Given the description of an element on the screen output the (x, y) to click on. 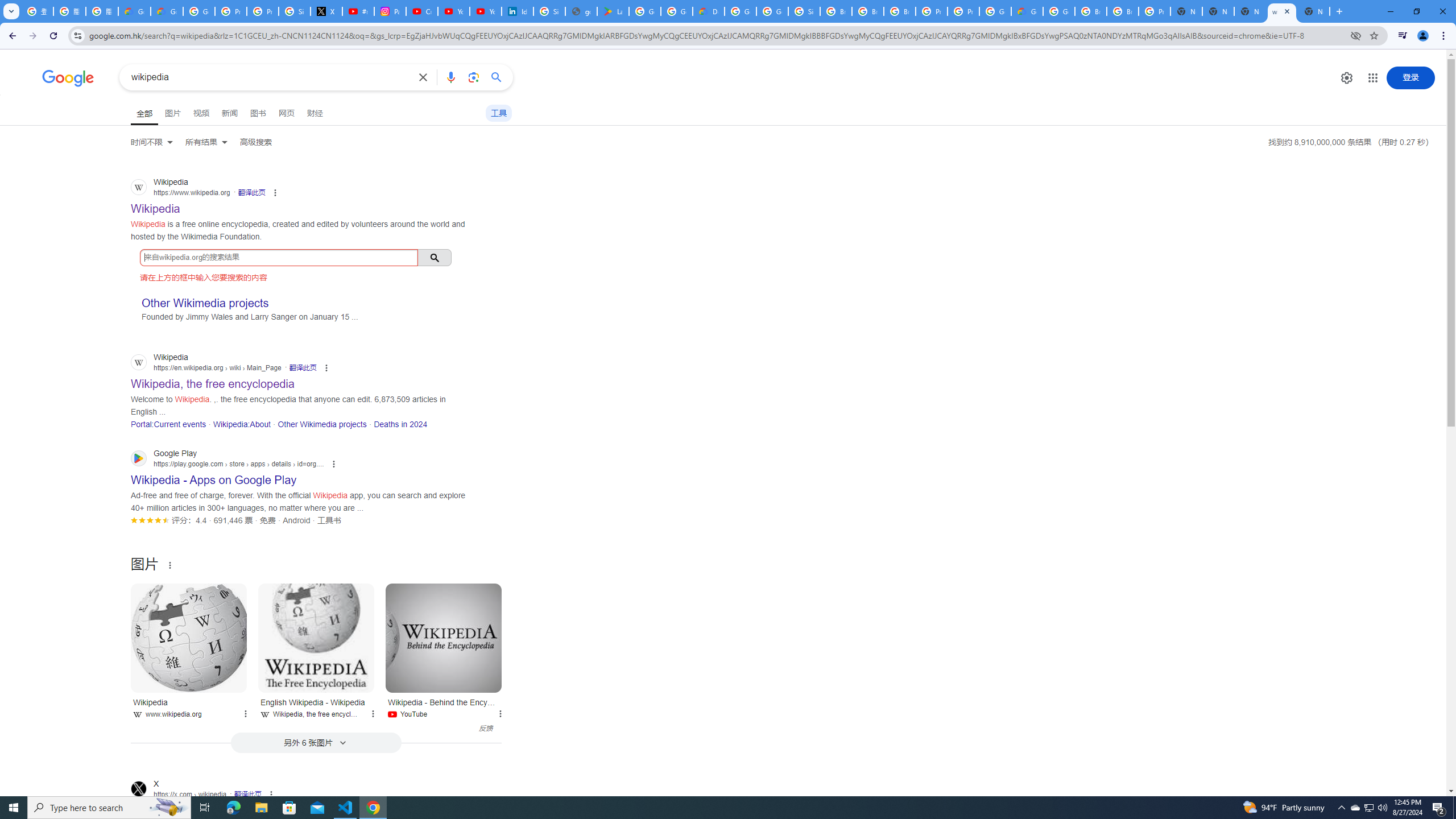
Google Cloud Platform (995, 11)
Browse Chrome as a guest - Computer - Google Chrome Help (836, 11)
Google Cloud Platform (1059, 11)
Wikipedia www.wikipedia.org (189, 706)
